Given the description of an element on the screen output the (x, y) to click on. 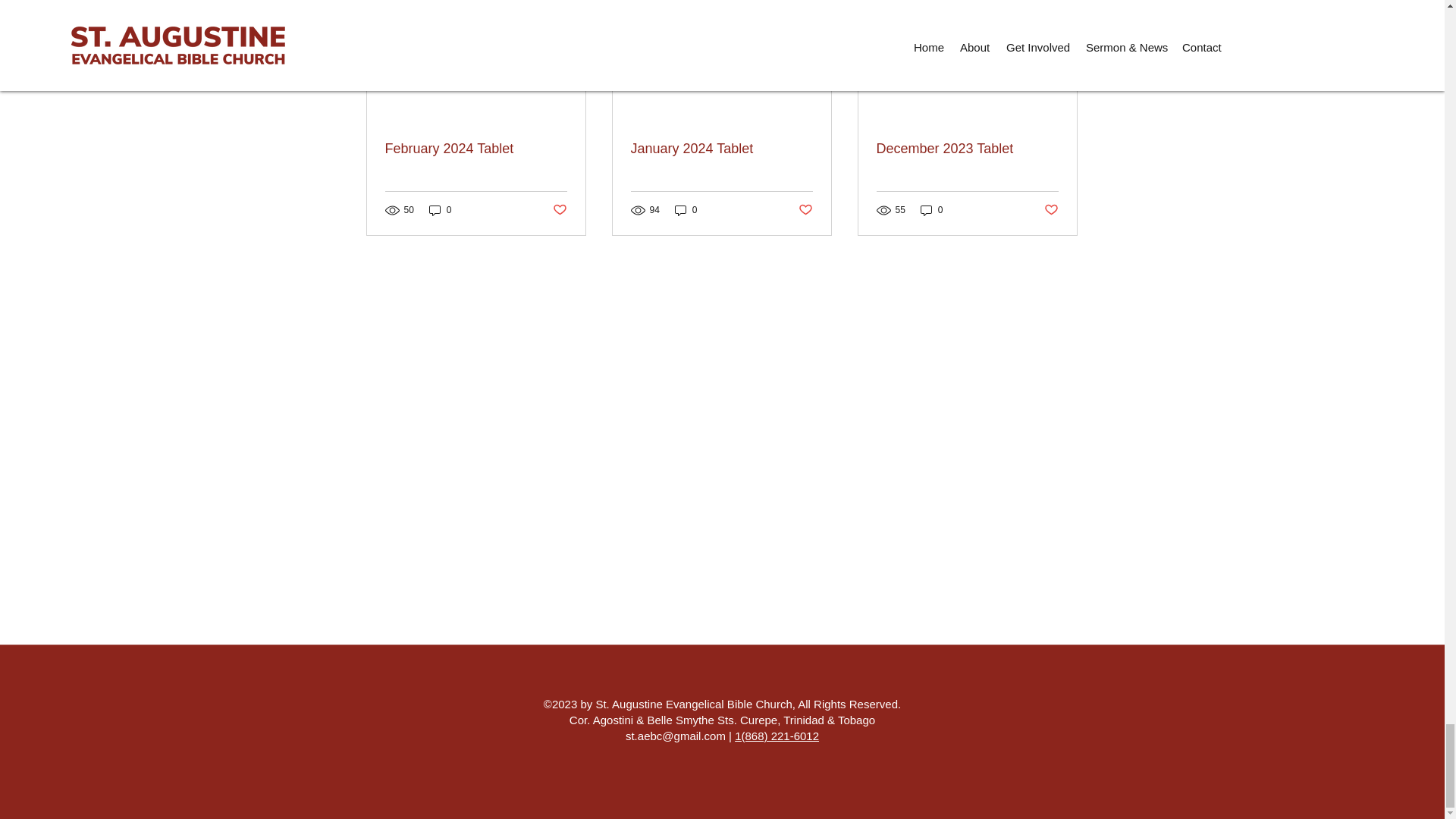
February 2024 Tablet (476, 148)
Post not marked as liked (558, 210)
Post not marked as liked (804, 210)
0 (685, 210)
January 2024 Tablet (721, 148)
0 (440, 210)
